Given the description of an element on the screen output the (x, y) to click on. 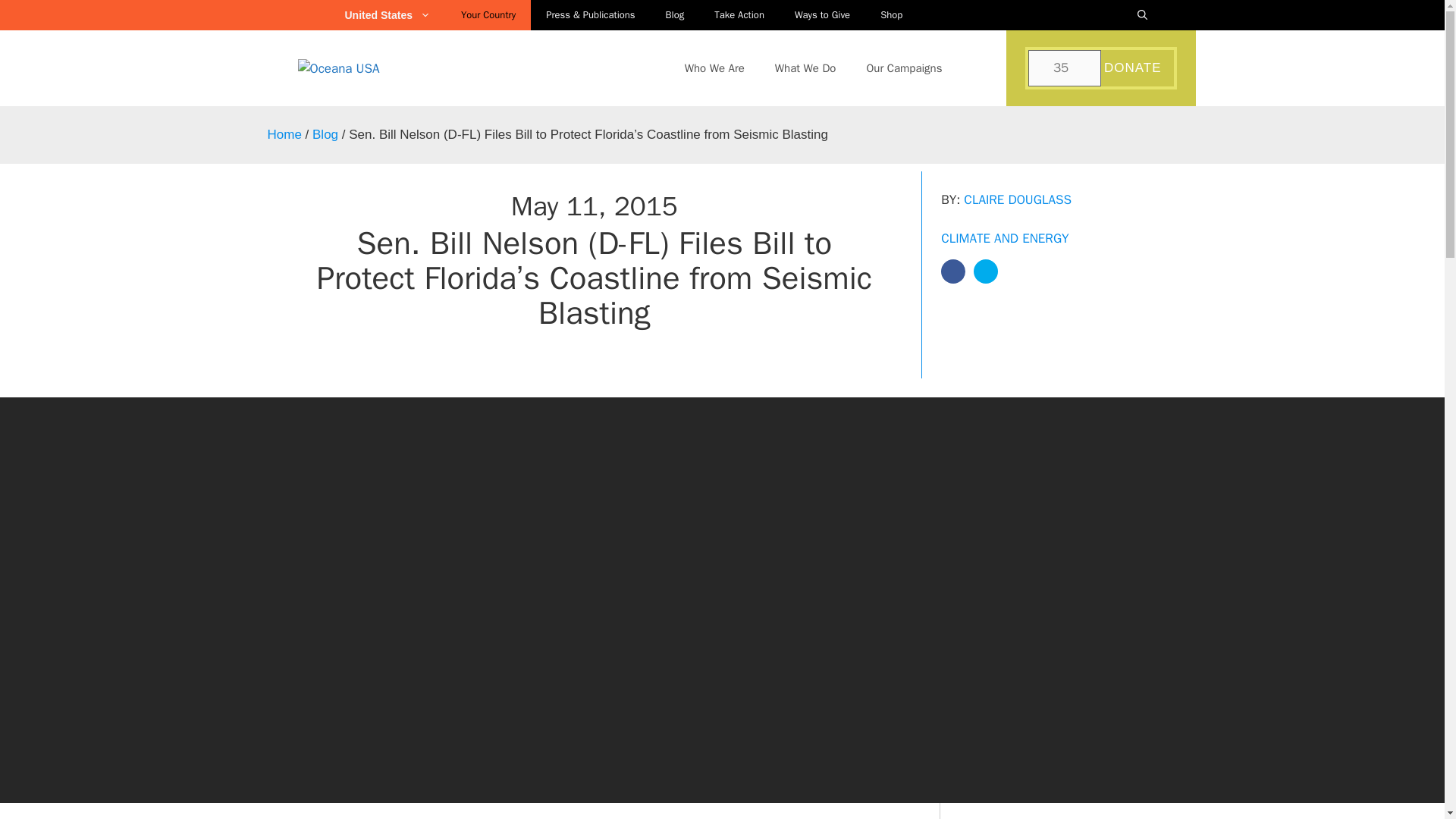
DONATE (1133, 67)
Blog (325, 134)
Who We Are (714, 67)
Blog (675, 15)
DONATE (1133, 67)
What We Do (805, 67)
Your Country (488, 15)
CLAIRE DOUGLASS (1017, 198)
Ways to Give (821, 15)
Our Campaigns (903, 67)
United States (394, 15)
Home (283, 134)
Shop (890, 15)
CLIMATE AND ENERGY (1004, 238)
Take Action (738, 15)
